Given the description of an element on the screen output the (x, y) to click on. 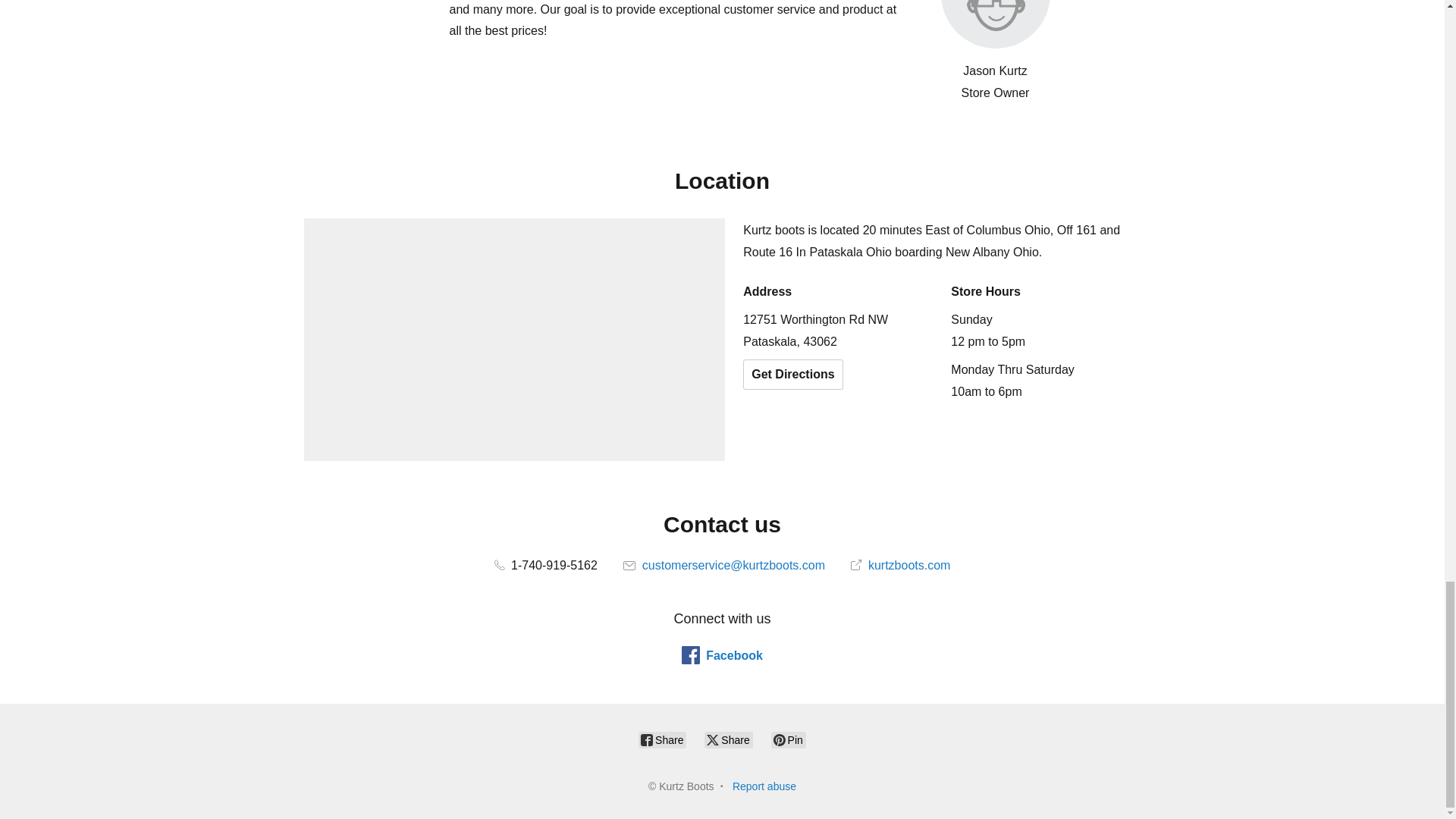
kurtzboots.com (900, 564)
Location on map (513, 339)
Get Directions (792, 374)
Share (728, 740)
1-740-919-5162 (545, 564)
Share (662, 740)
Pin (788, 740)
Facebook (721, 655)
